Given the description of an element on the screen output the (x, y) to click on. 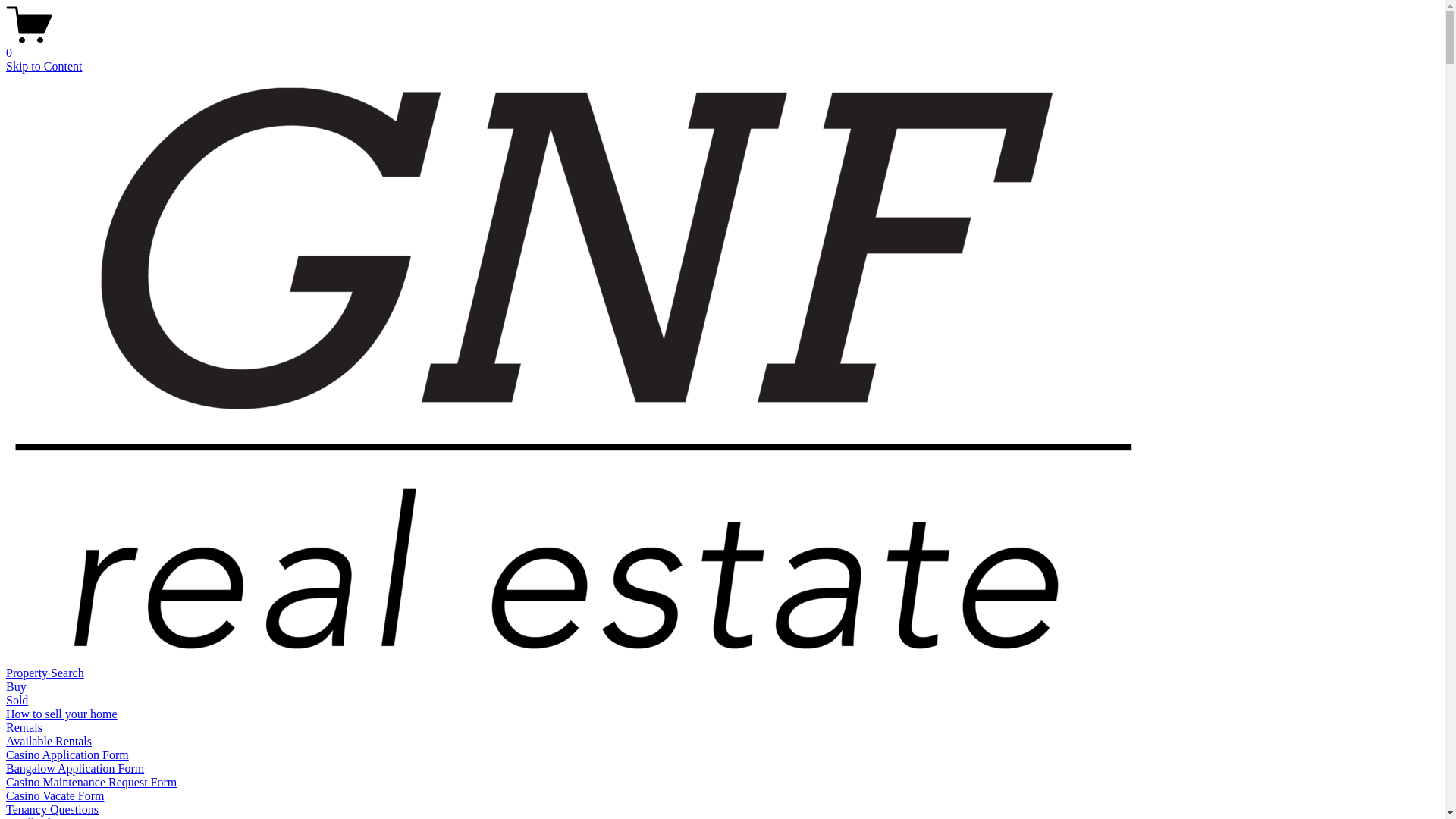
How to sell your home Element type: text (61, 713)
Rentals Element type: text (24, 727)
Bangalow Application Form Element type: text (75, 768)
Skip to Content Element type: text (43, 65)
Casino Maintenance Request Form Element type: text (91, 781)
Casino Vacate Form Element type: text (54, 795)
Casino Application Form Element type: text (67, 754)
Property Search Element type: text (45, 672)
Buy Element type: text (16, 686)
Available Rentals Element type: text (48, 740)
Tenancy Questions Element type: text (52, 809)
0 Element type: text (722, 45)
Sold Element type: text (17, 699)
